Given the description of an element on the screen output the (x, y) to click on. 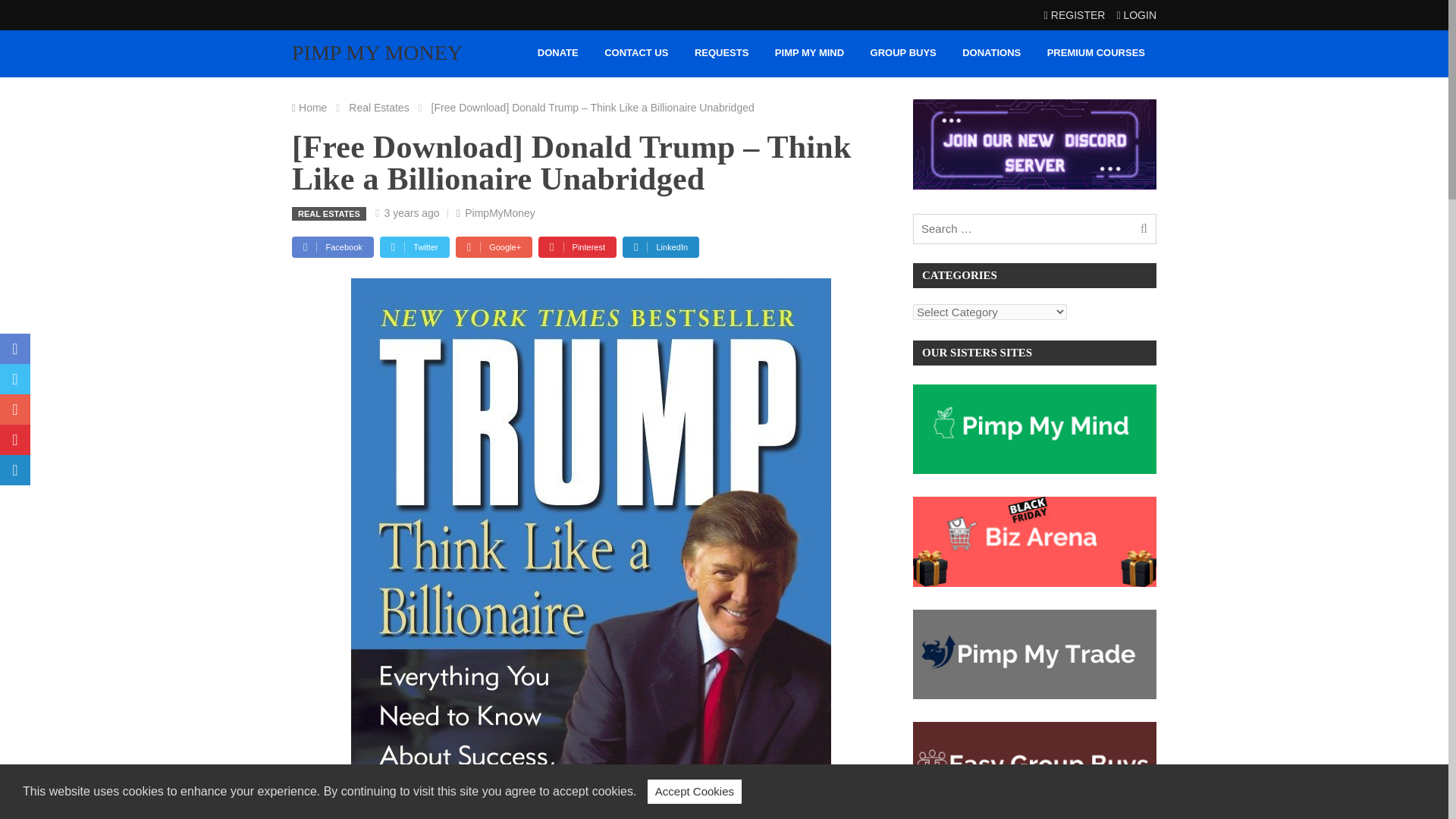
Register (1074, 15)
PIMP MY MONEY (377, 52)
DONATE (557, 53)
REAL ESTATES (329, 213)
Share on Pinterest (576, 246)
CONTACT US (635, 53)
PREMIUM COURSES (1096, 53)
REGISTER (1074, 15)
Share on LinkedIn (660, 246)
Real Estates (380, 107)
REQUESTS (722, 53)
Pimp My Money (377, 52)
Login (1136, 15)
PIMP MY MIND (809, 53)
Share on Facebook (333, 246)
